Given the description of an element on the screen output the (x, y) to click on. 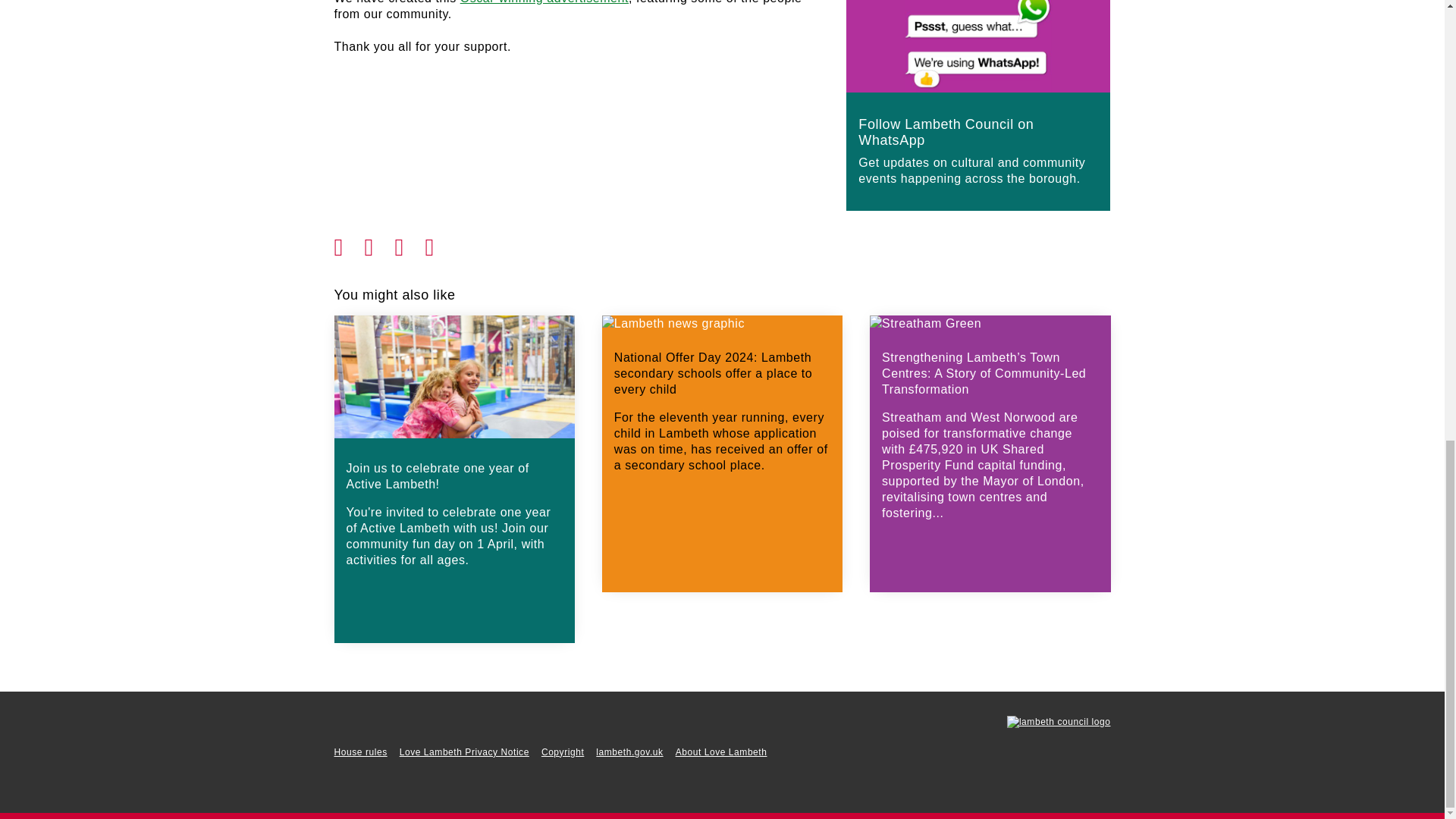
share this on twitter (379, 242)
House rules (360, 751)
share this on google plus (409, 242)
Copyright (562, 751)
lambeth council's website (1058, 721)
Love Lambeth Privacy Notice (463, 751)
About Love Lambeth (721, 751)
Join us to celebrate one year of Active Lambeth! (453, 508)
lambeth.gov.uk (628, 751)
share this on Facebook (348, 242)
Oscar-winning advertisement (544, 2)
